Given the description of an element on the screen output the (x, y) to click on. 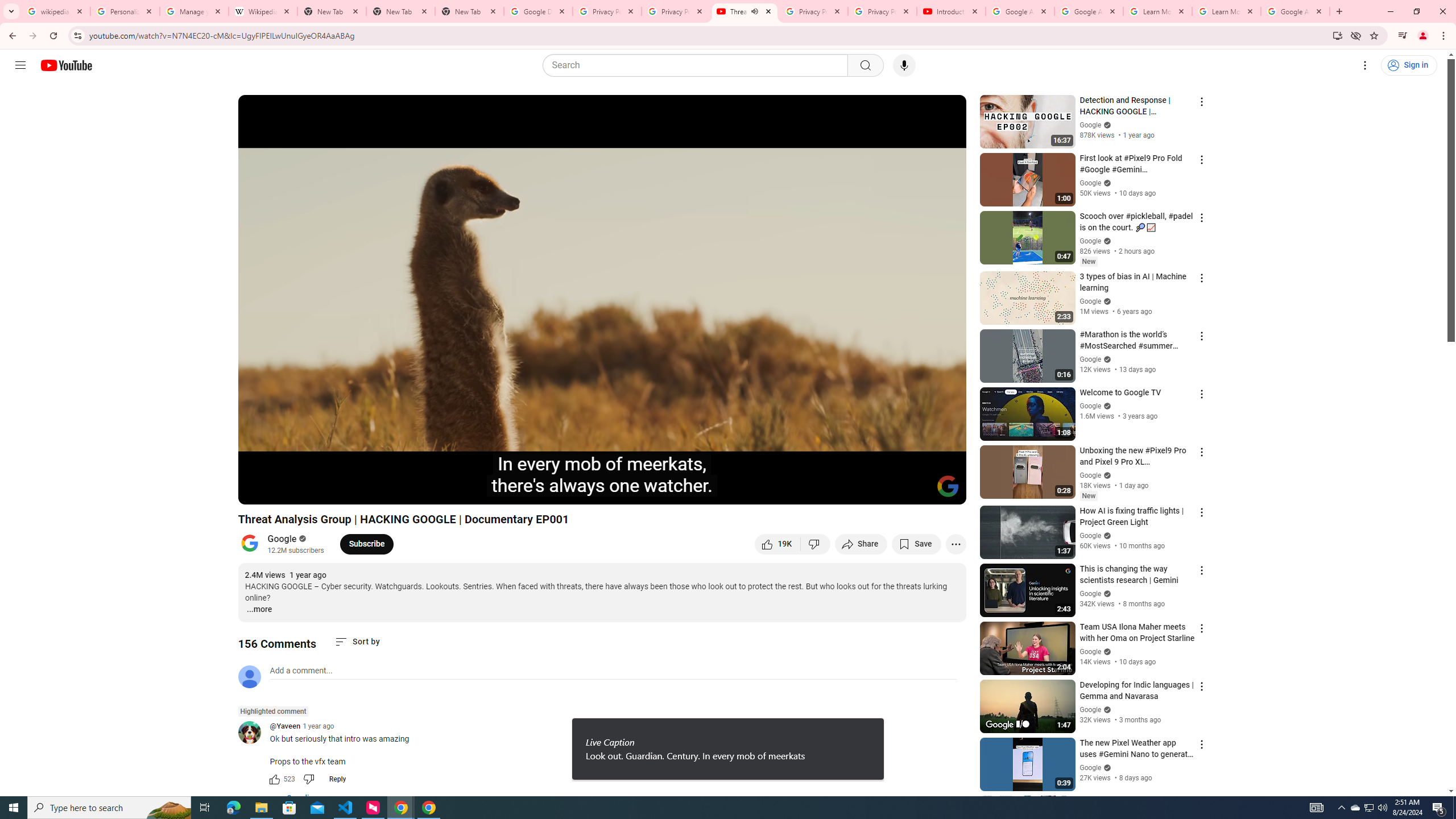
Guide (20, 65)
Channel watermark (947, 486)
Subscribe to Google. (366, 543)
